Given the description of an element on the screen output the (x, y) to click on. 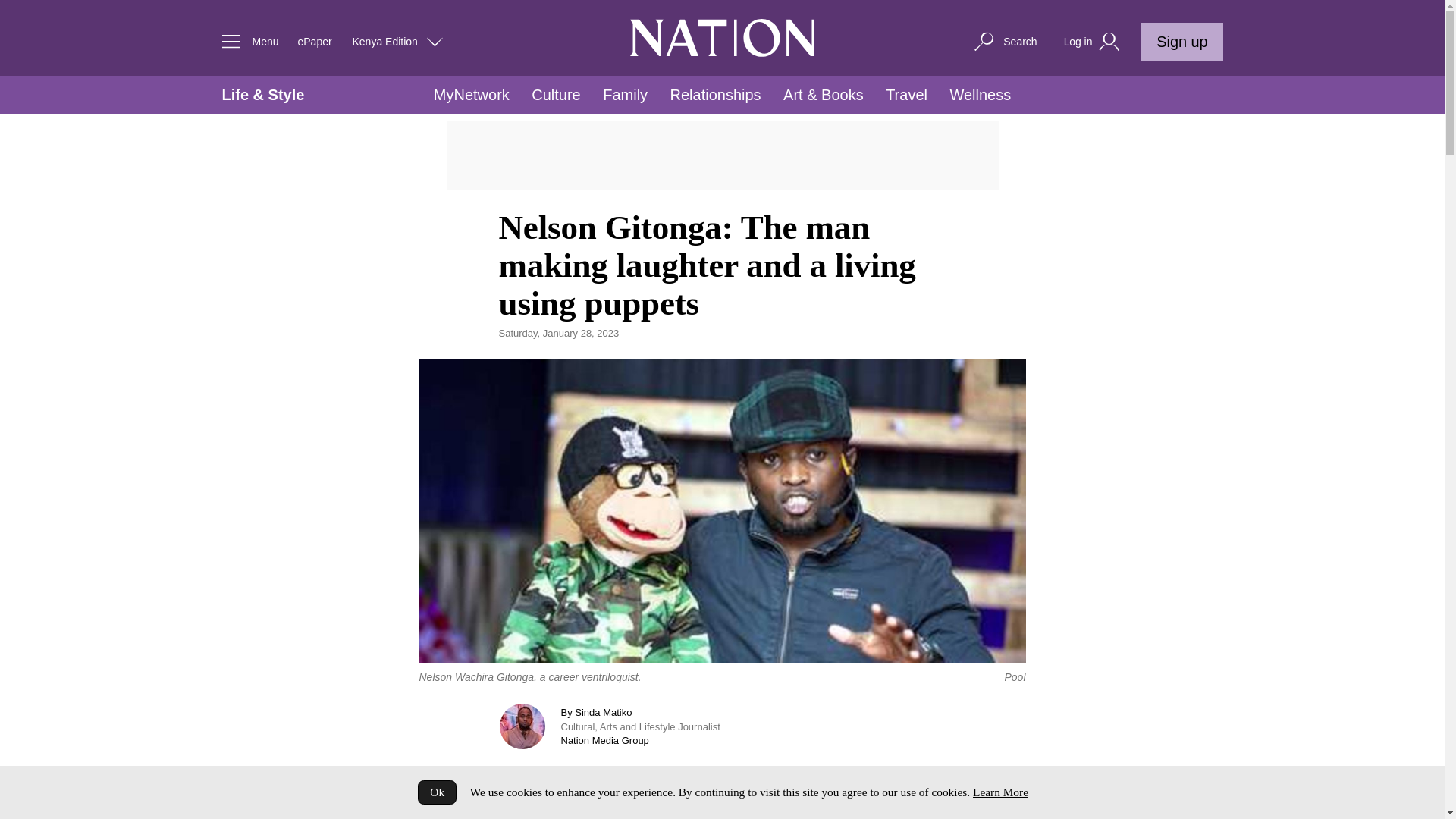
Ok (437, 792)
Menu (246, 41)
Learn More (999, 791)
Culture (555, 94)
Relationships (715, 94)
Log in (1094, 41)
ePaper (314, 41)
Family (624, 94)
Search (1003, 41)
Wellness (979, 94)
